Given the description of an element on the screen output the (x, y) to click on. 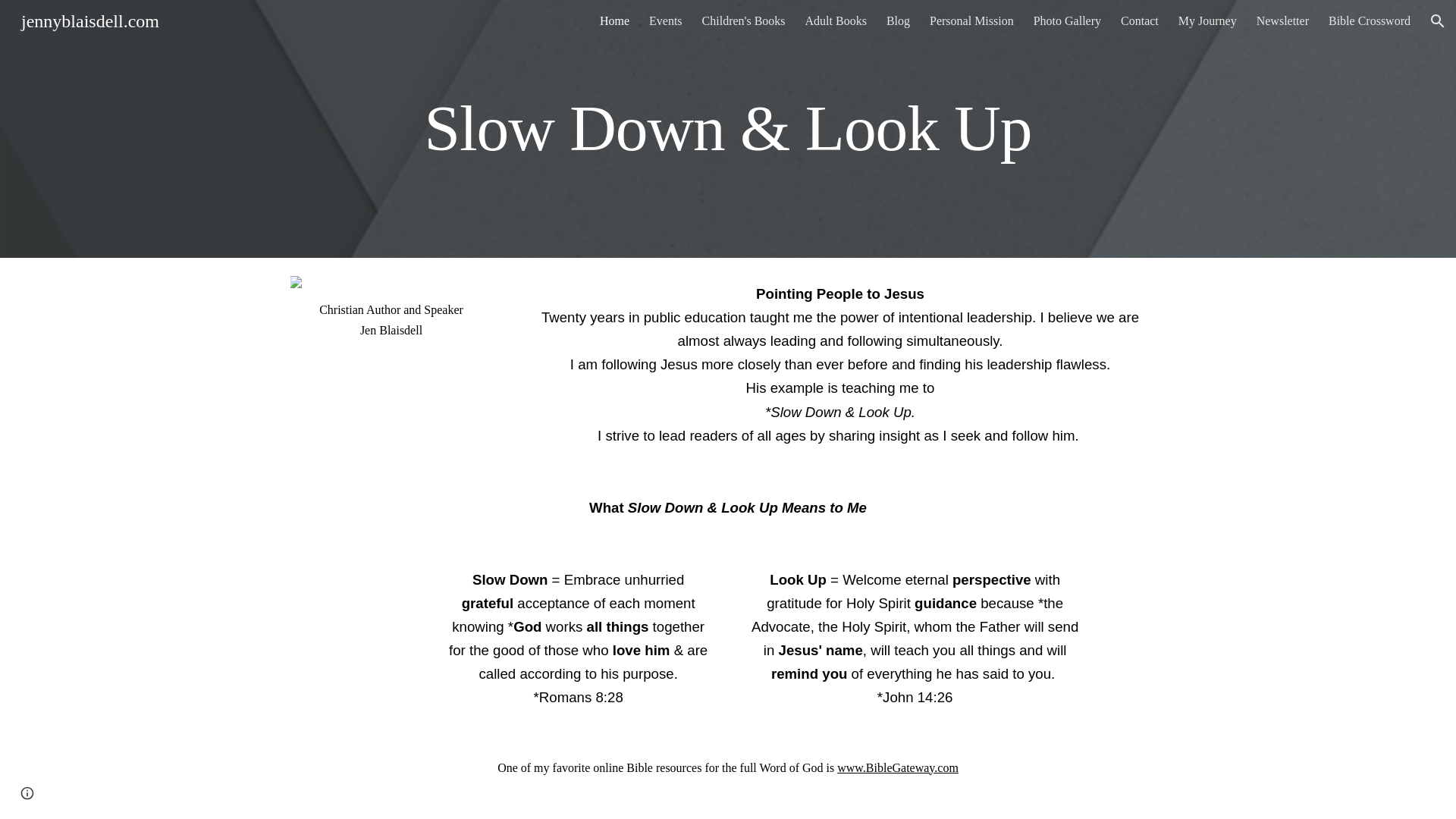
Newsletter (1282, 20)
Photo Gallery (1066, 20)
Home (613, 20)
Events (665, 20)
Bible Crossword (1368, 20)
Children's Books (743, 20)
Contact (1139, 20)
Adult Books (835, 20)
Blog (898, 20)
www.BibleGateway.com (897, 767)
Personal Mission (971, 20)
My Journey (1206, 20)
jennyblaisdell.com (89, 19)
